Given the description of an element on the screen output the (x, y) to click on. 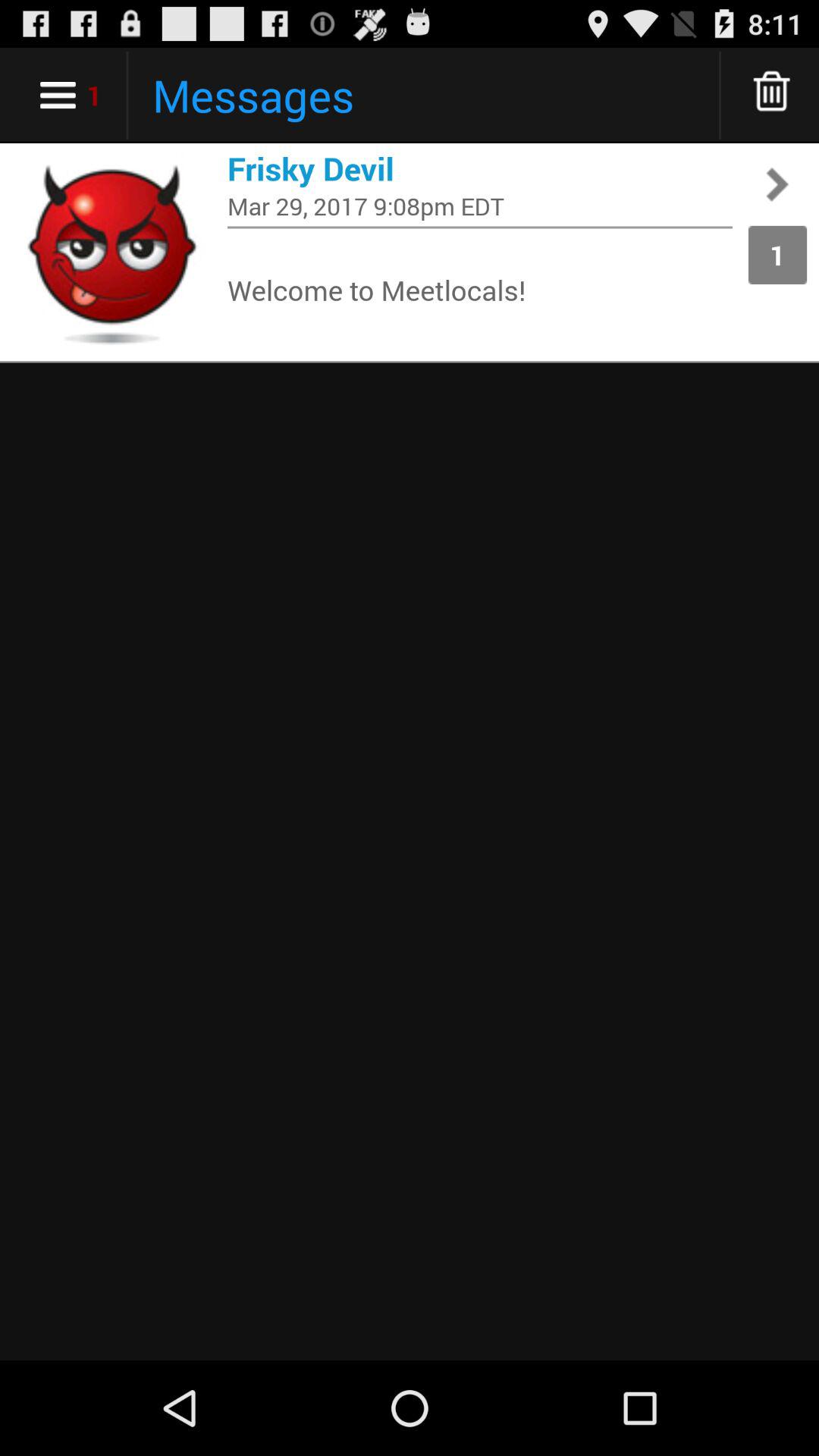
turn off item next to the 1 app (479, 227)
